Given the description of an element on the screen output the (x, y) to click on. 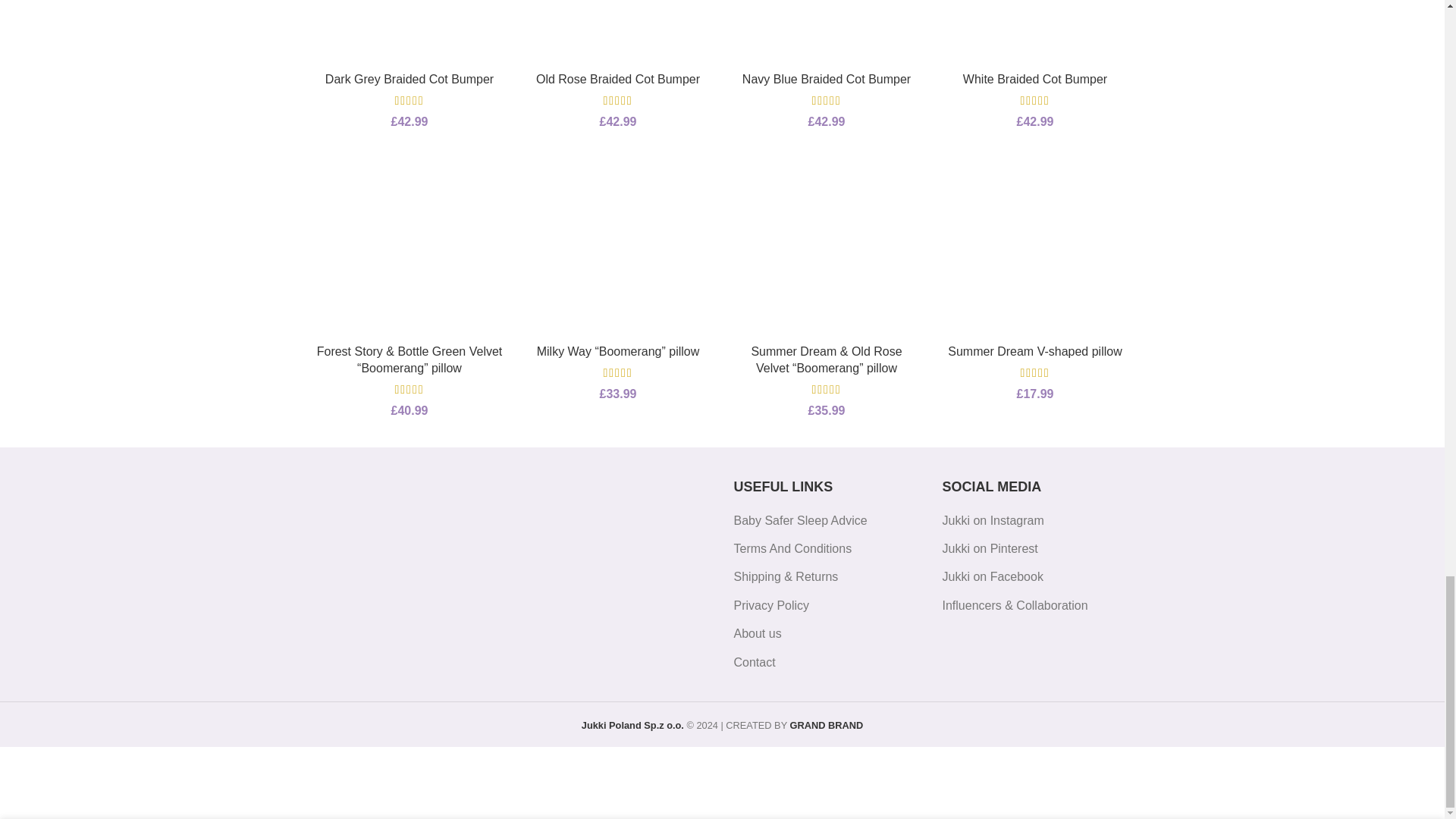
Dark Grey Braided Cot Bumper (408, 78)
